Given the description of an element on the screen output the (x, y) to click on. 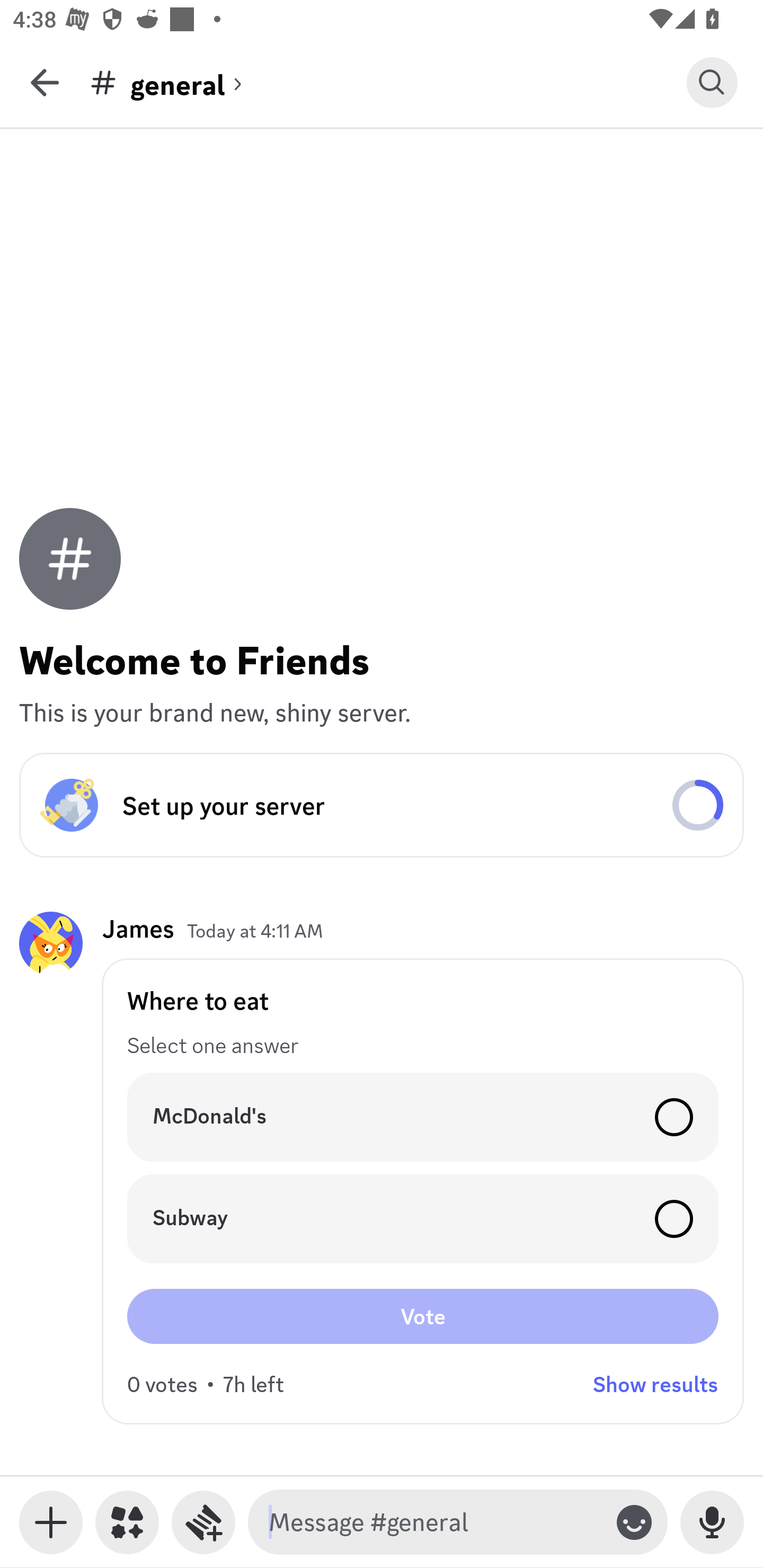
general (channel) general general (channel) (387, 82)
Back (44, 82)
Search (711, 82)
Set up your server (381, 804)
James (137, 928)
McDonald's (422, 1116)
Subway (422, 1218)
Vote (422, 1315)
0 votes  •  7h left (205, 1383)
Show results (655, 1383)
Message #general Toggle emoji keyboard (457, 1522)
Toggle media keyboard (50, 1522)
Apps (126, 1522)
Thread (203, 1522)
Record Voice Message (711, 1522)
Toggle emoji keyboard (634, 1522)
